Given the description of an element on the screen output the (x, y) to click on. 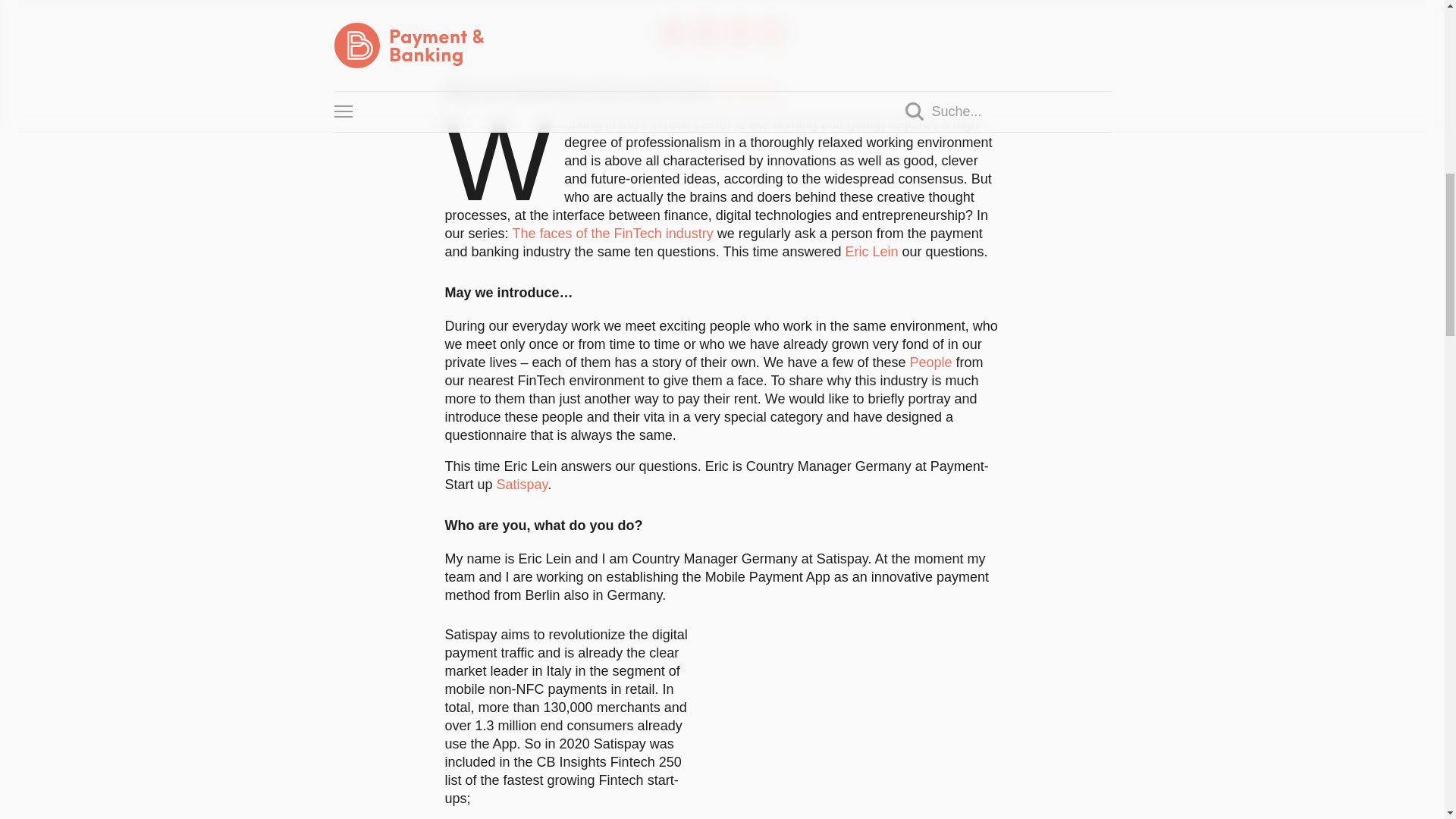
Satispay (522, 484)
People (930, 362)
Satispay (744, 90)
The faces of the FinTech industry (612, 233)
Eric Lein (871, 251)
